Given the description of an element on the screen output the (x, y) to click on. 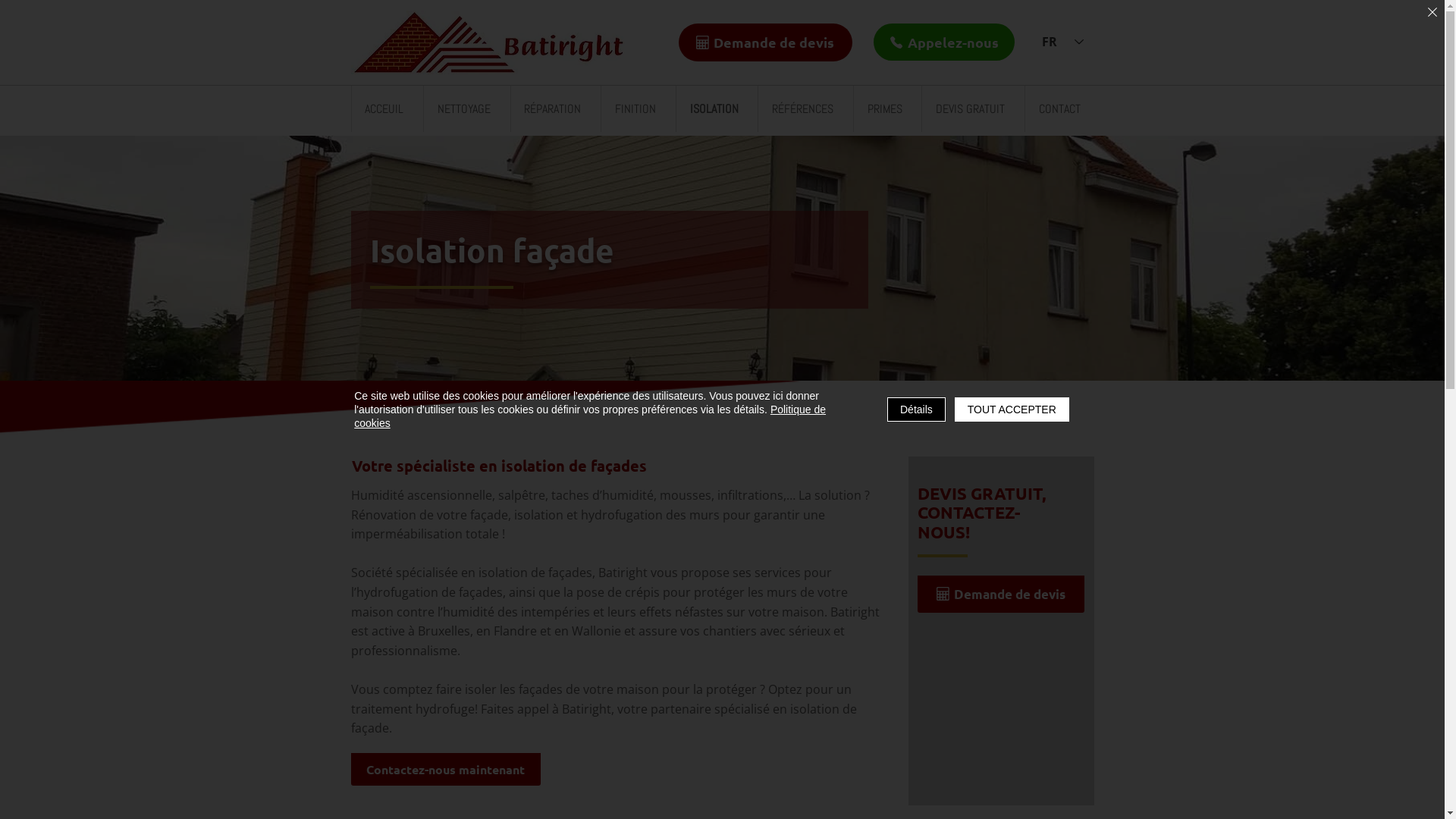
NETTOYAGE Element type: text (463, 108)
ISOLATION Element type: text (713, 108)
Demande de devis Element type: text (1000, 593)
Contactez-nous maintenant Element type: text (444, 769)
ACCEUIL Element type: text (383, 108)
Appelez-nous Element type: text (943, 41)
PRIMES Element type: text (884, 108)
TOUT ACCEPTER Element type: text (1011, 409)
DEVIS GRATUIT Element type: text (969, 108)
Politique de cookies Element type: text (589, 416)
Demande de devis Element type: text (764, 42)
CONTACT Element type: text (1059, 108)
FINITION Element type: text (634, 108)
